Given the description of an element on the screen output the (x, y) to click on. 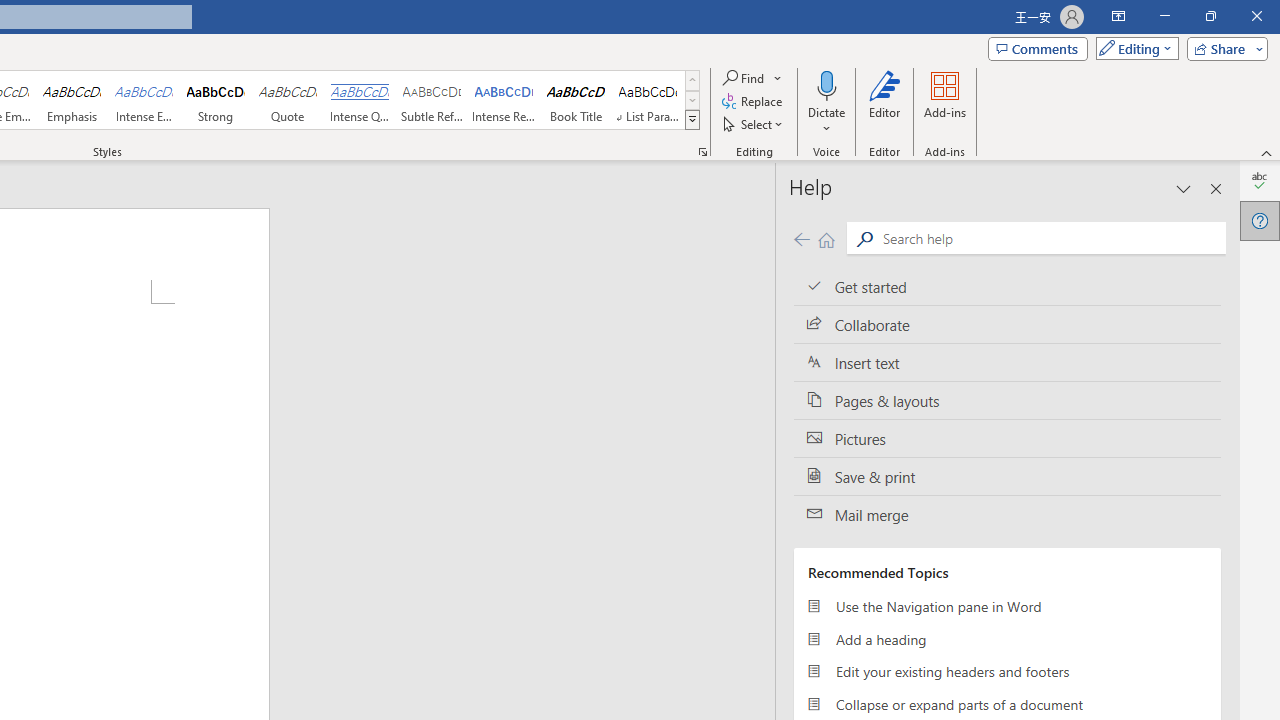
Intense Emphasis (143, 100)
Get started (1007, 286)
Use the Navigation pane in Word (1007, 605)
Pictures (1007, 438)
Book Title (575, 100)
Collaborate (1007, 325)
